Given the description of an element on the screen output the (x, y) to click on. 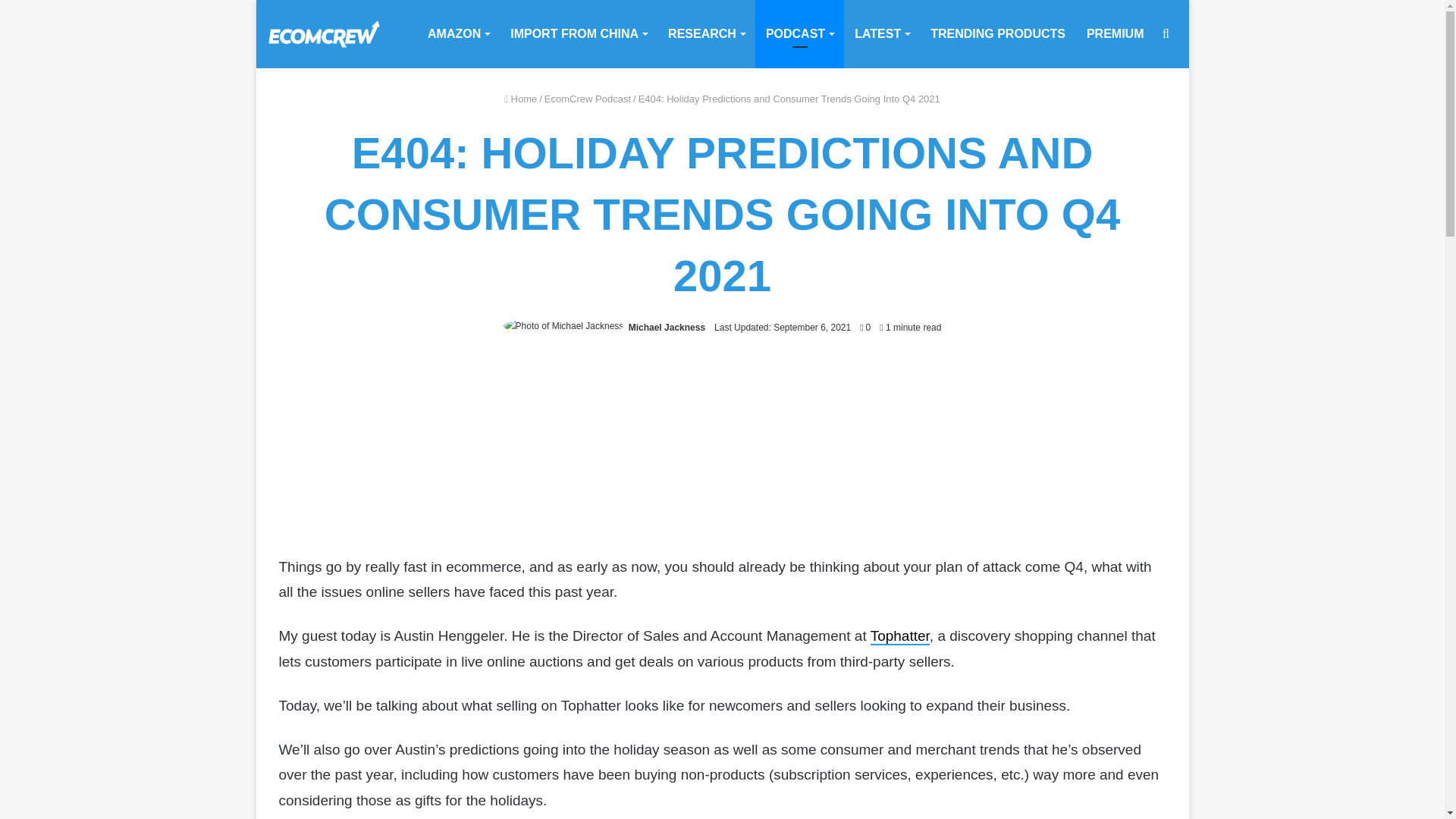
Michael Jackness (666, 327)
RESEARCH (706, 33)
EcomCrew (323, 33)
IMPORT FROM CHINA (578, 33)
AMAZON (457, 33)
